Given the description of an element on the screen output the (x, y) to click on. 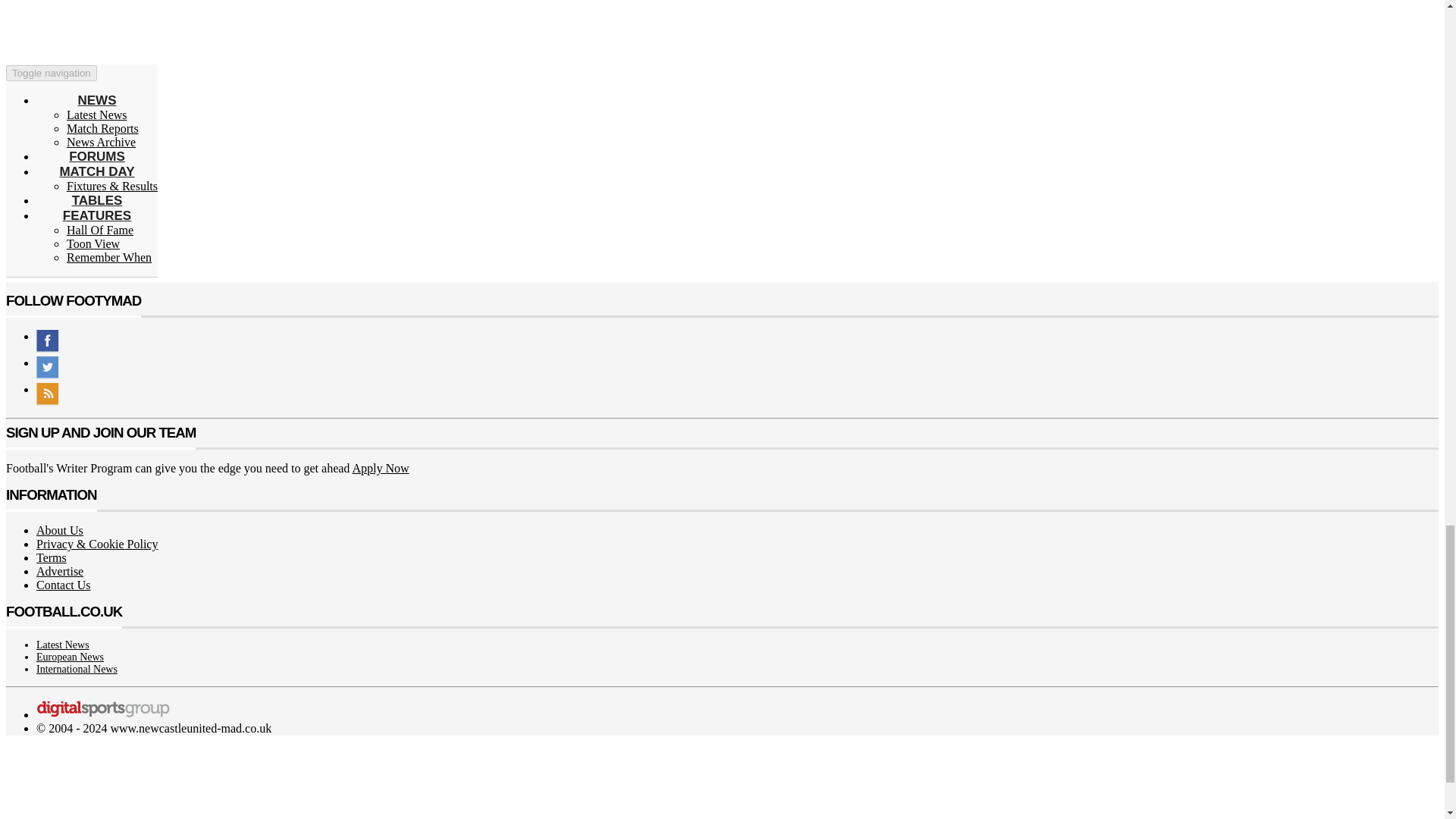
Contact us (63, 584)
About us (59, 530)
footymad.net Terms and Conditions (51, 557)
Advertise on footymad.net (59, 571)
